Given the description of an element on the screen output the (x, y) to click on. 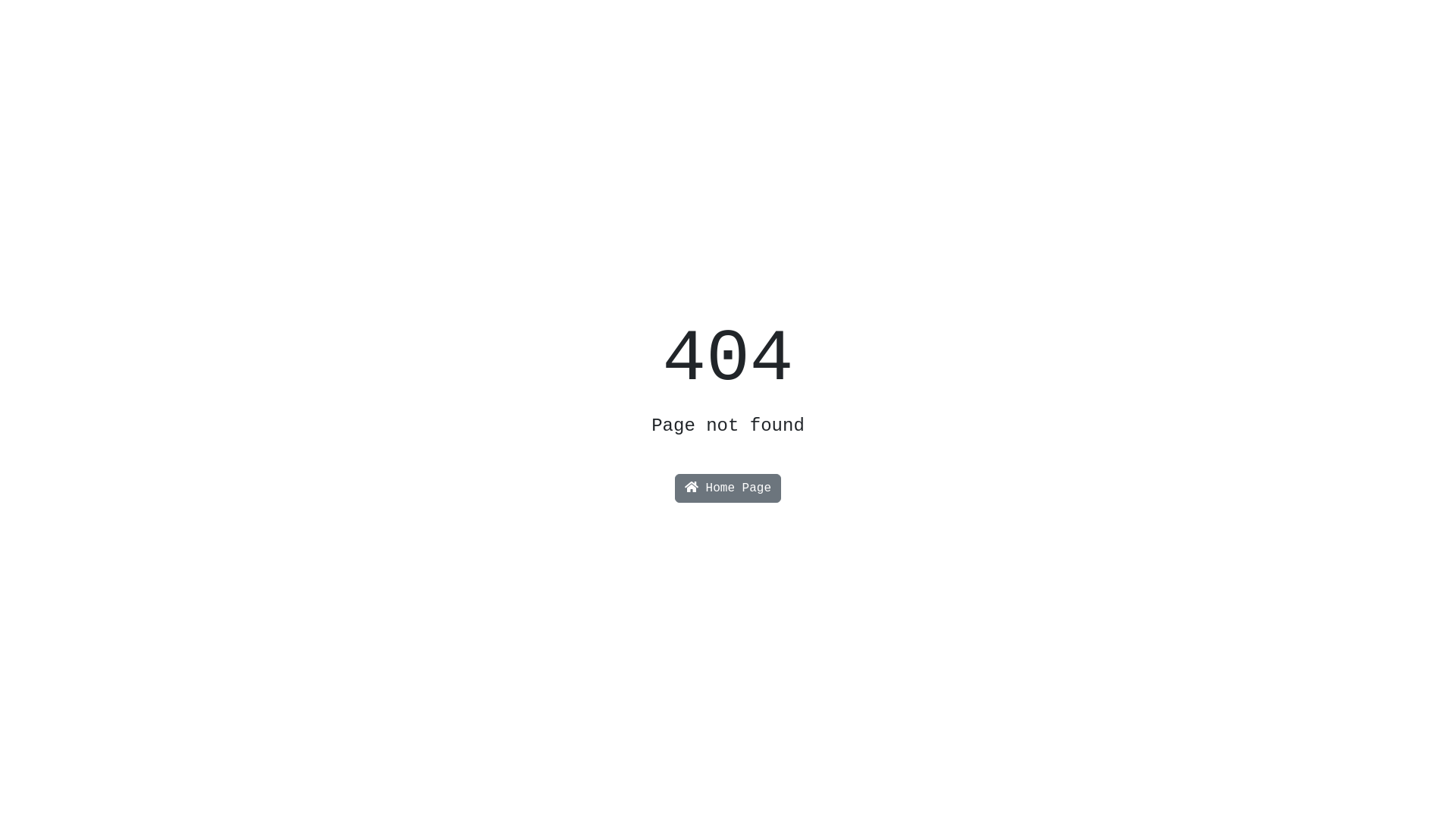
Home Page Element type: text (727, 487)
